Given the description of an element on the screen output the (x, y) to click on. 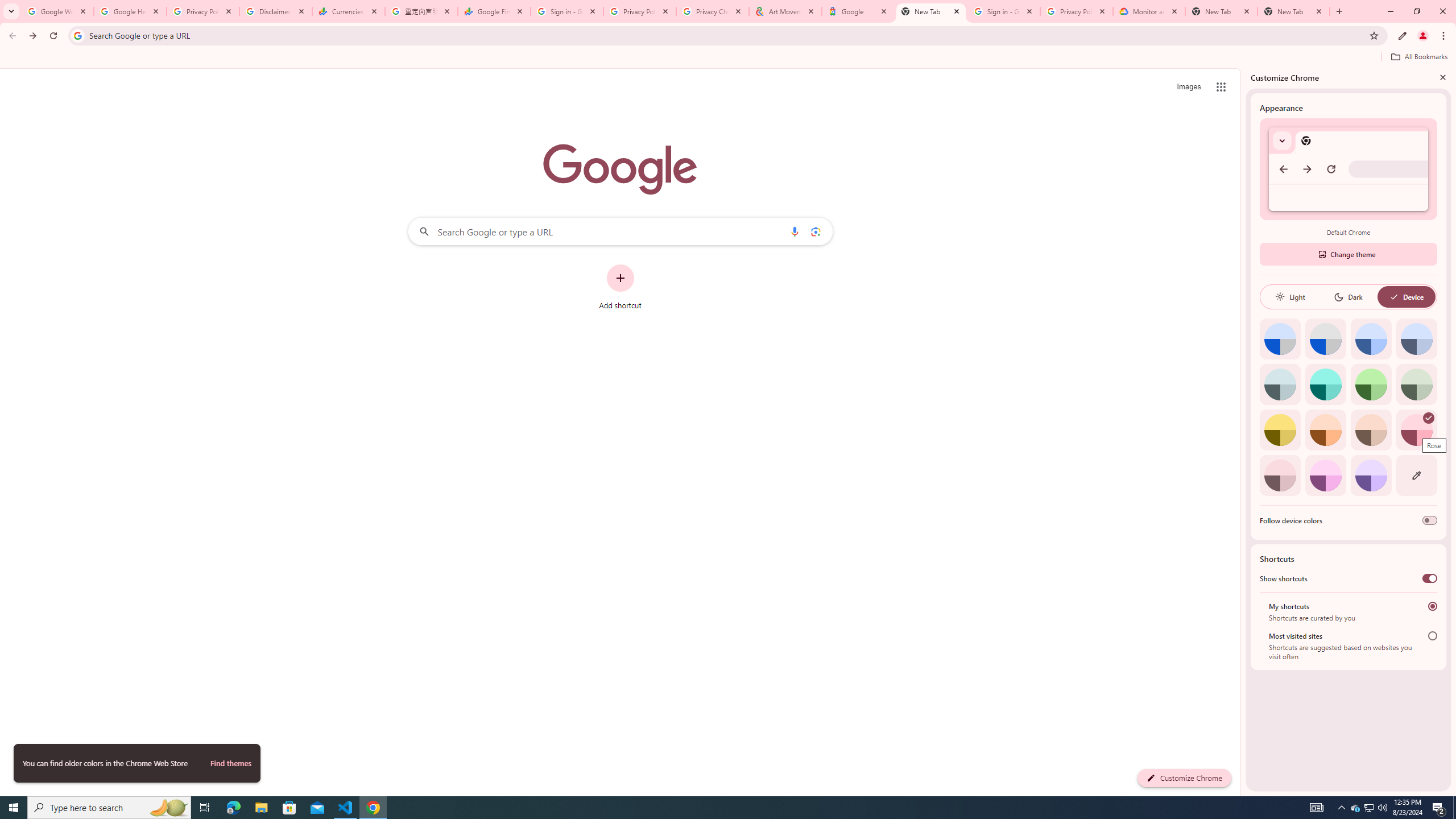
New Tab (930, 11)
Citron (1279, 429)
Search Google or type a URL (619, 230)
Aqua (1325, 383)
Google Workspace Admin Community (57, 11)
New Tab (1293, 11)
Blue (1371, 338)
Fuchsia (1325, 475)
